Given the description of an element on the screen output the (x, y) to click on. 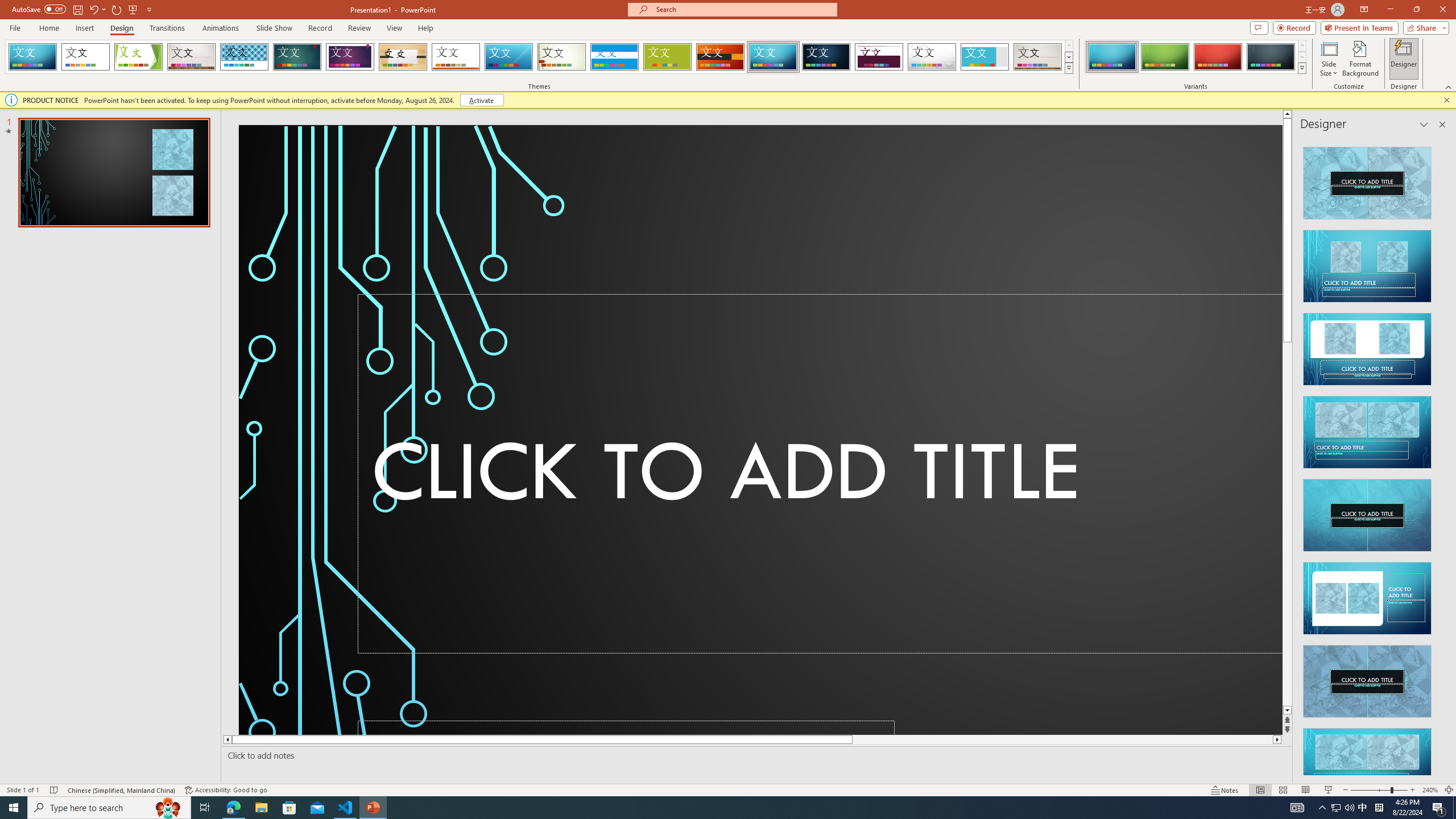
Zoom 240% (1430, 790)
Subtitle TextBox (625, 727)
Integral (244, 56)
Recommended Design: Design Idea (1366, 179)
AutomationID: SlideThemesGallery (539, 56)
Activate (481, 100)
Slide (114, 172)
Variants (1301, 67)
Facet (138, 56)
